Given the description of an element on the screen output the (x, y) to click on. 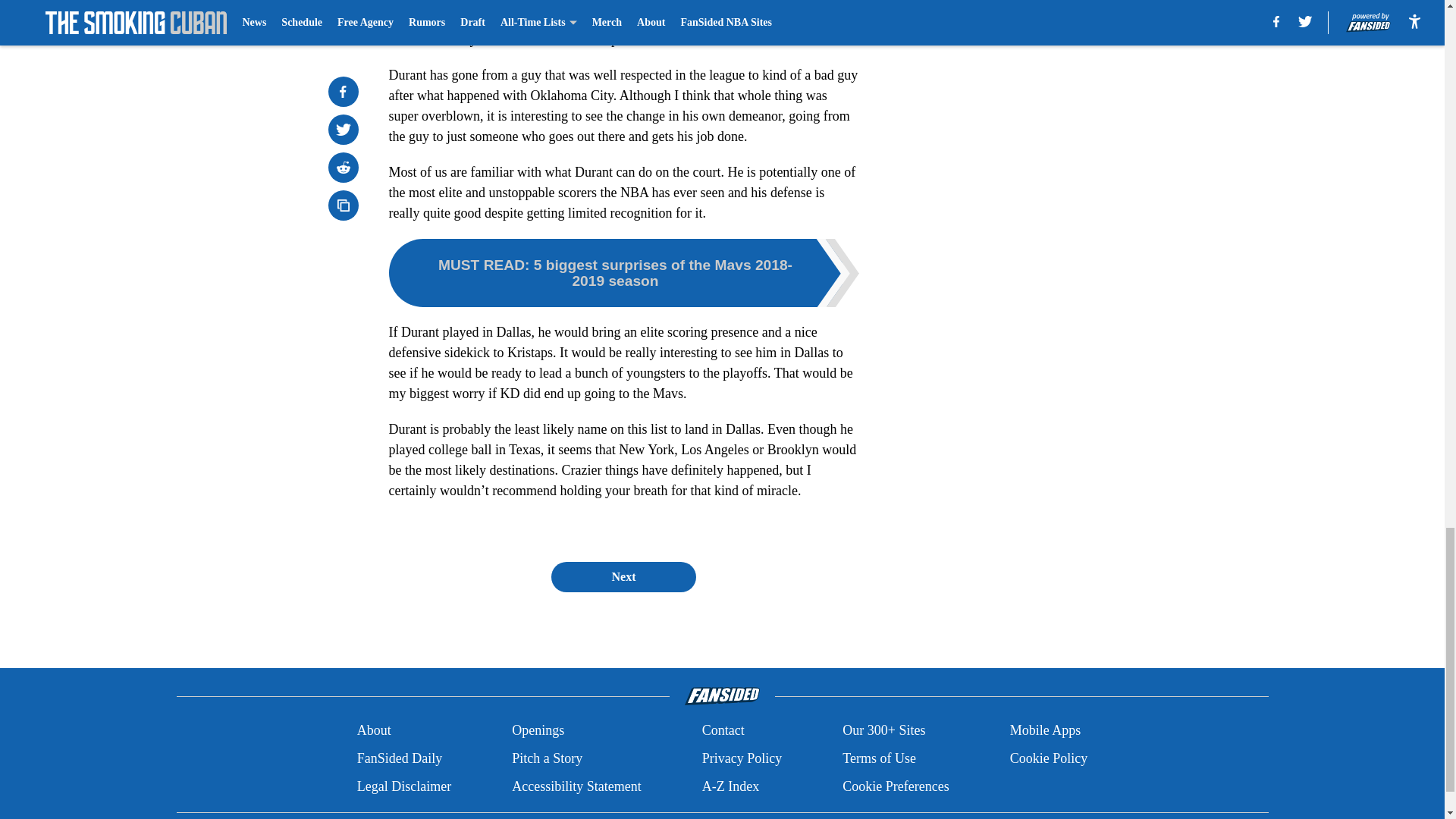
Openings (538, 730)
About (373, 730)
Contact (722, 730)
Mobile Apps (1045, 730)
MUST READ: 5 biggest surprises of the Mavs 2018-2019 season (623, 273)
Kevin Durant (616, 2)
Next (622, 576)
